Given the description of an element on the screen output the (x, y) to click on. 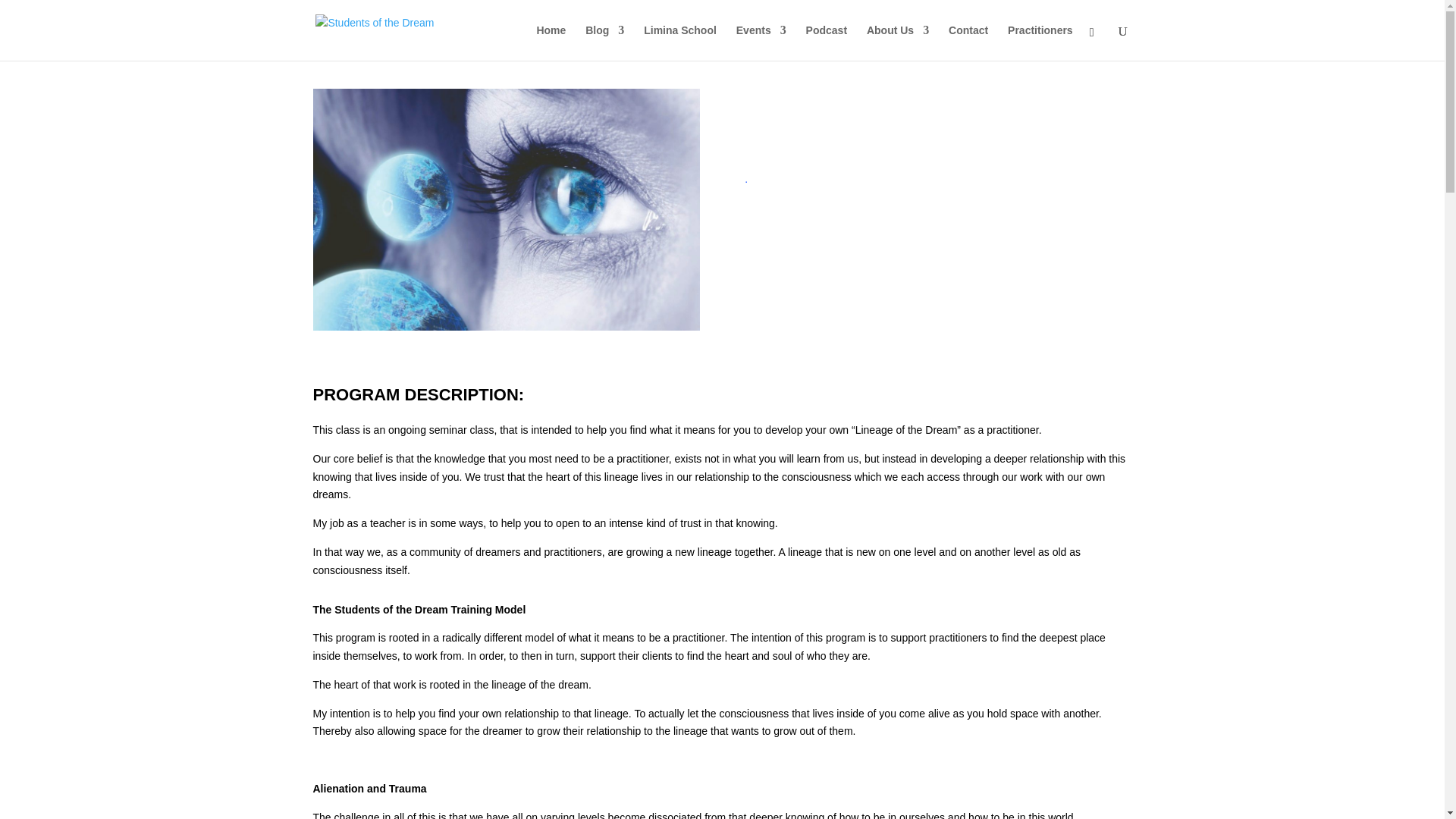
About Us (897, 42)
Events (761, 42)
Podcast (826, 42)
Limina School (679, 42)
Sign Up Here! (808, 279)
Contact (968, 42)
Blog (604, 42)
Practitioners (1040, 42)
